Given the description of an element on the screen output the (x, y) to click on. 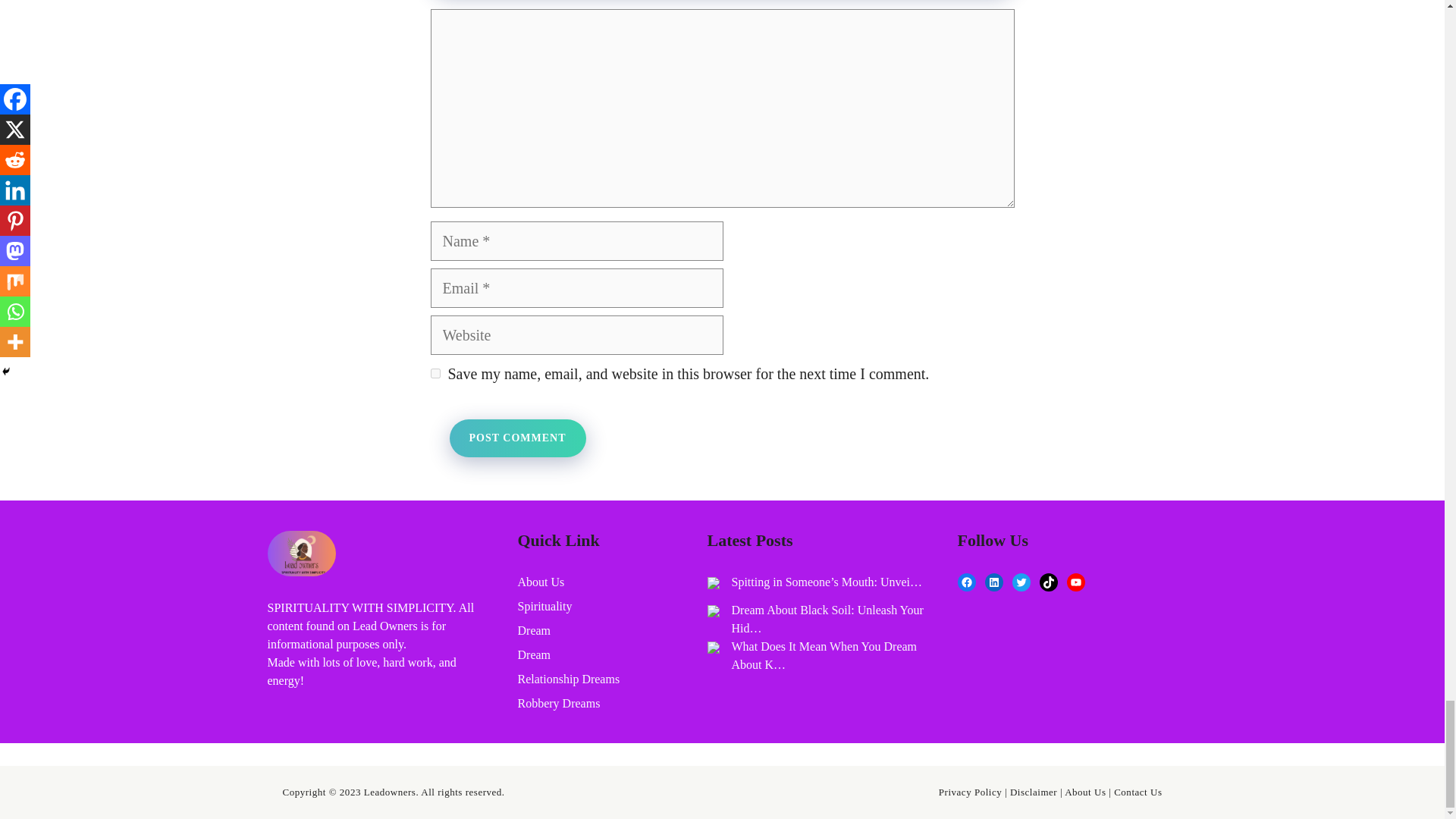
yes (435, 373)
Post Comment (516, 438)
